Given the description of an element on the screen output the (x, y) to click on. 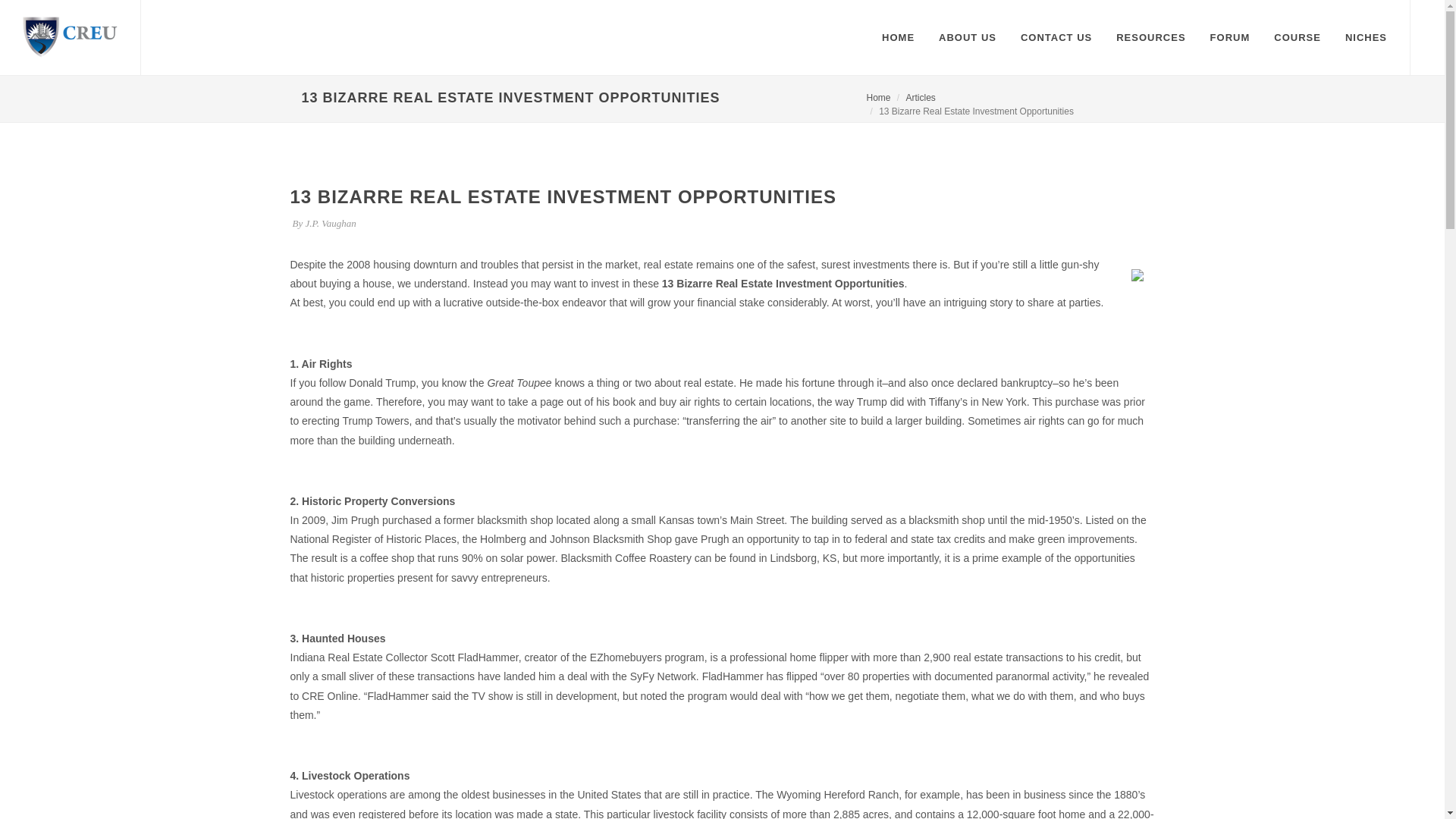
RESOURCES (1150, 38)
ABOUT US (967, 38)
Articles (919, 97)
Home (877, 97)
COURSE (1297, 38)
CONTACT US (1056, 38)
